Given the description of an element on the screen output the (x, y) to click on. 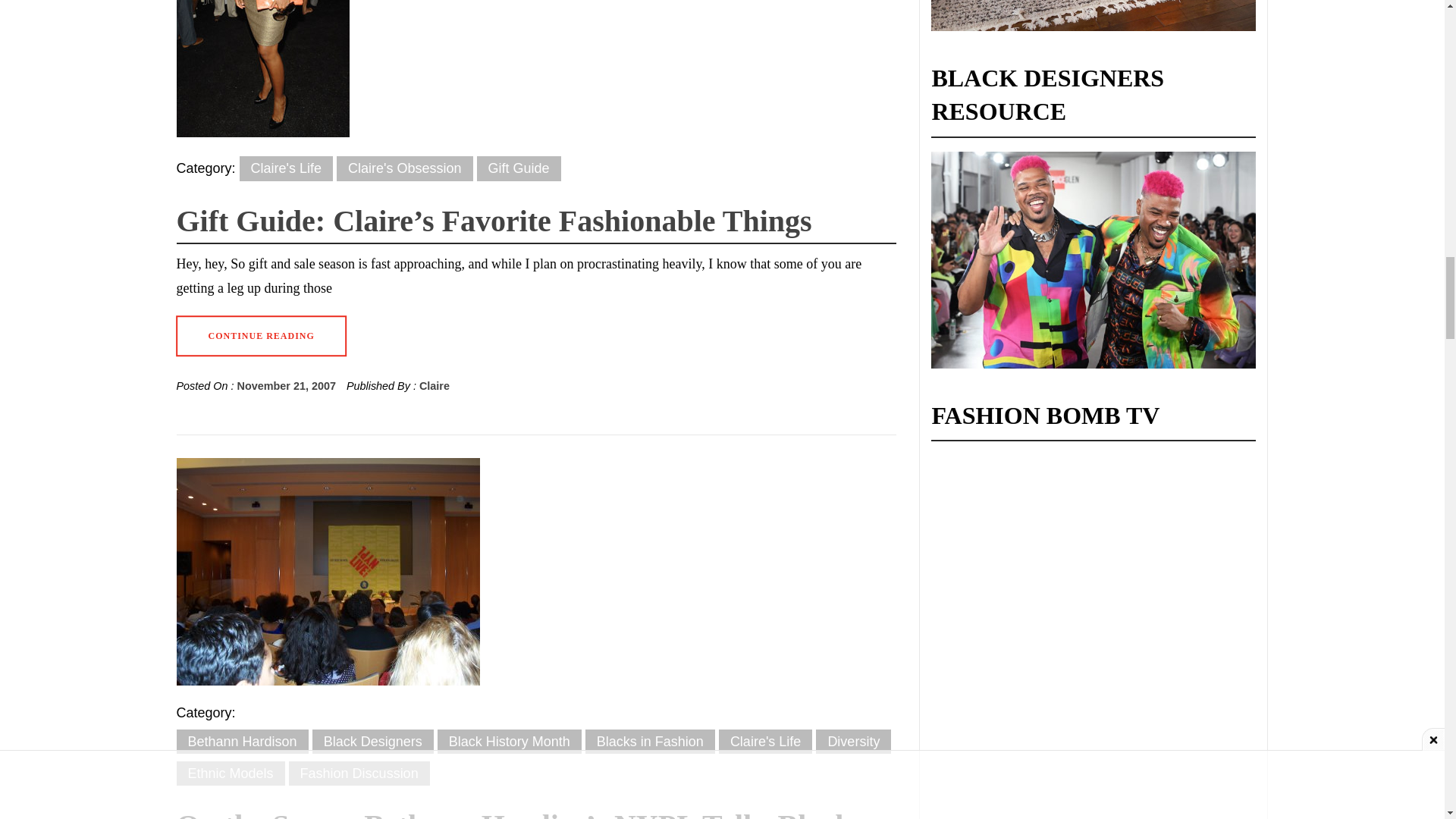
YouTube video player (1044, 773)
YouTube video player (1044, 519)
YouTube video player (1044, 655)
